Given the description of an element on the screen output the (x, y) to click on. 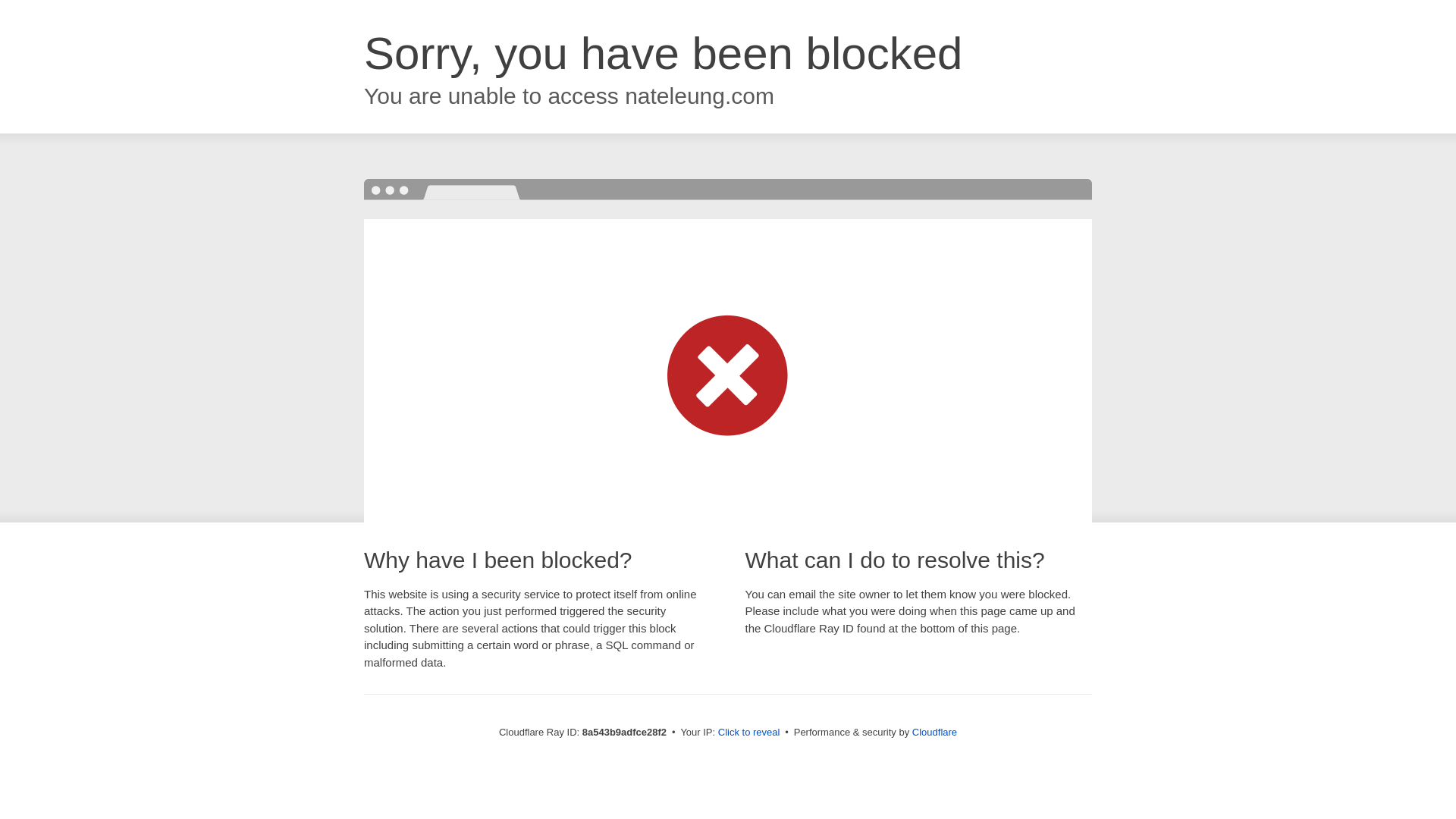
Cloudflare (934, 731)
Click to reveal (748, 732)
